Given the description of an element on the screen output the (x, y) to click on. 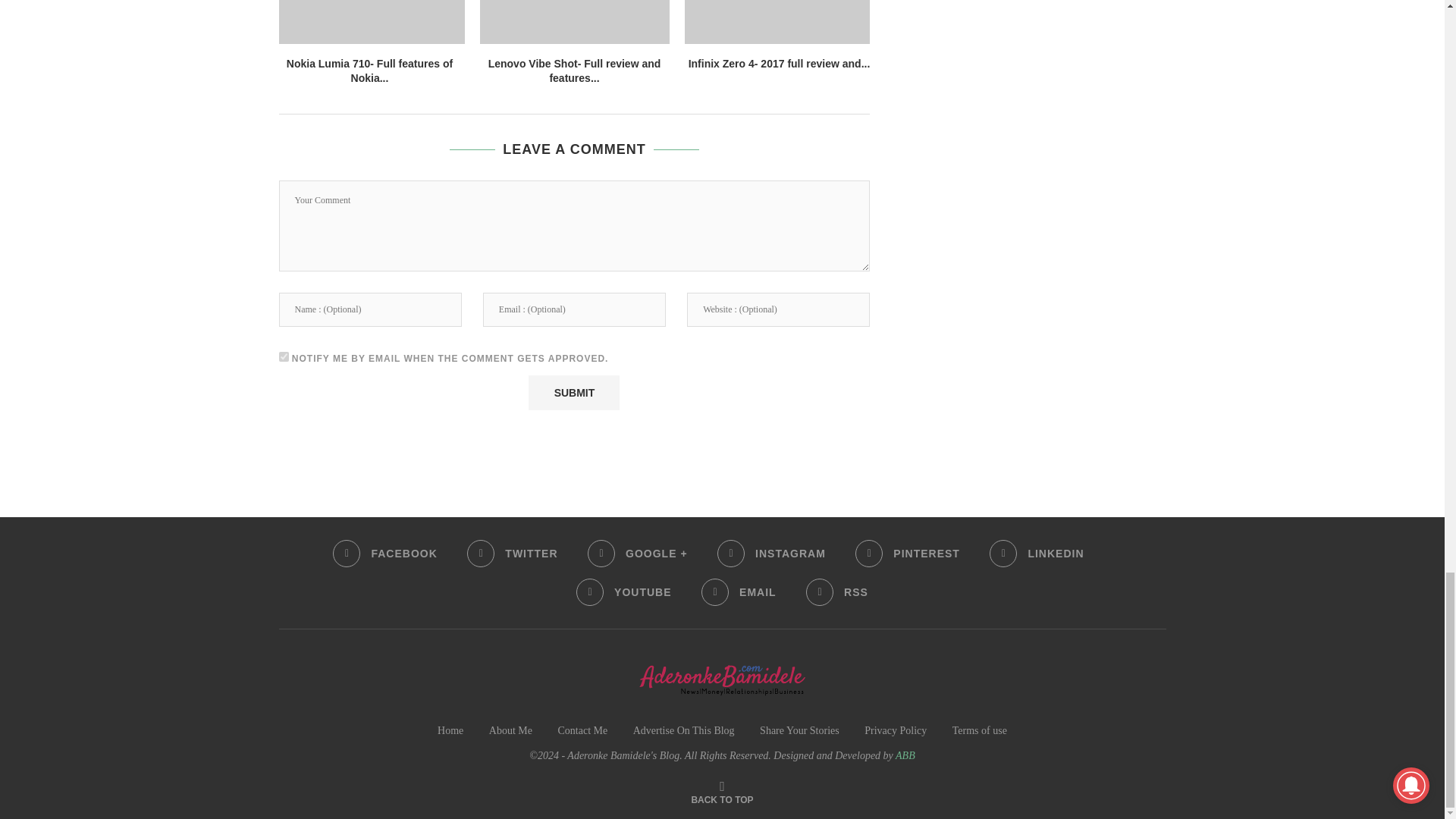
Submit (574, 392)
1 (283, 356)
